Given the description of an element on the screen output the (x, y) to click on. 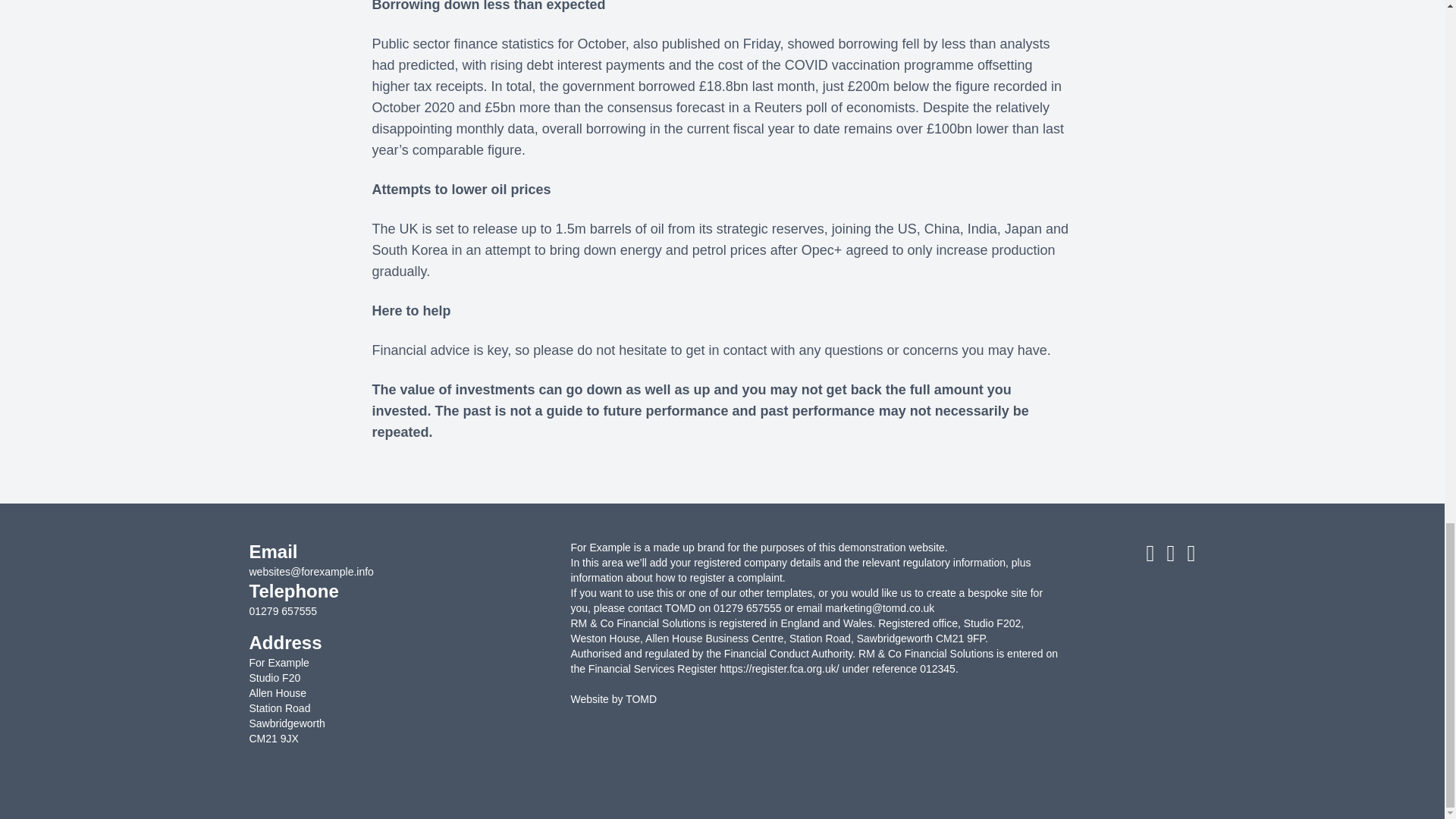
TOMD (641, 698)
